Given the description of an element on the screen output the (x, y) to click on. 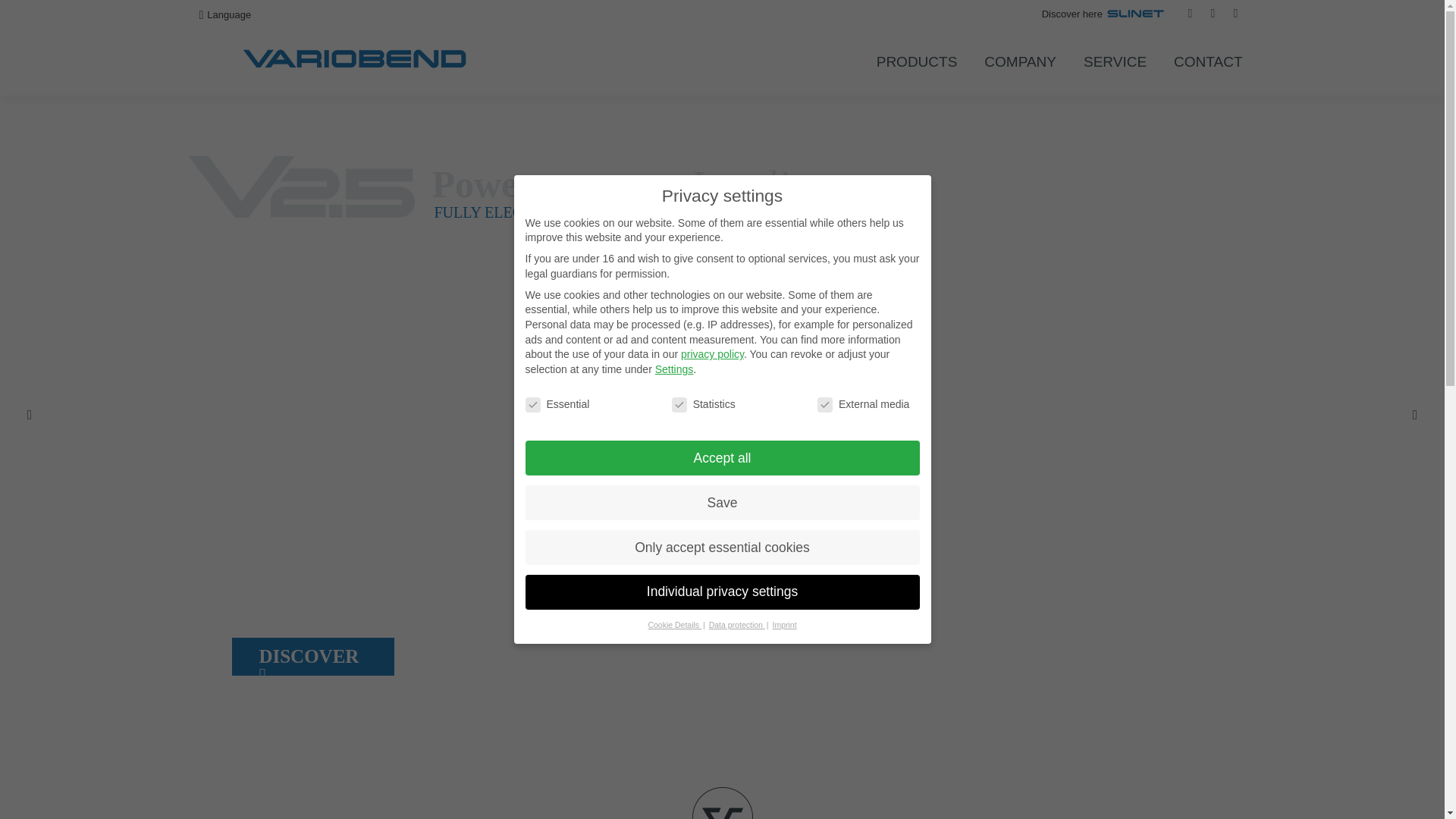
YouTube page opens in new window (1212, 13)
YouTube page opens in new window (1212, 13)
Facebook page opens in new window (1189, 13)
PRODUCTS (916, 61)
Vimeo page opens in new window (1234, 13)
Vimeo page opens in new window (1234, 13)
Facebook page opens in new window (1189, 13)
